Given the description of an element on the screen output the (x, y) to click on. 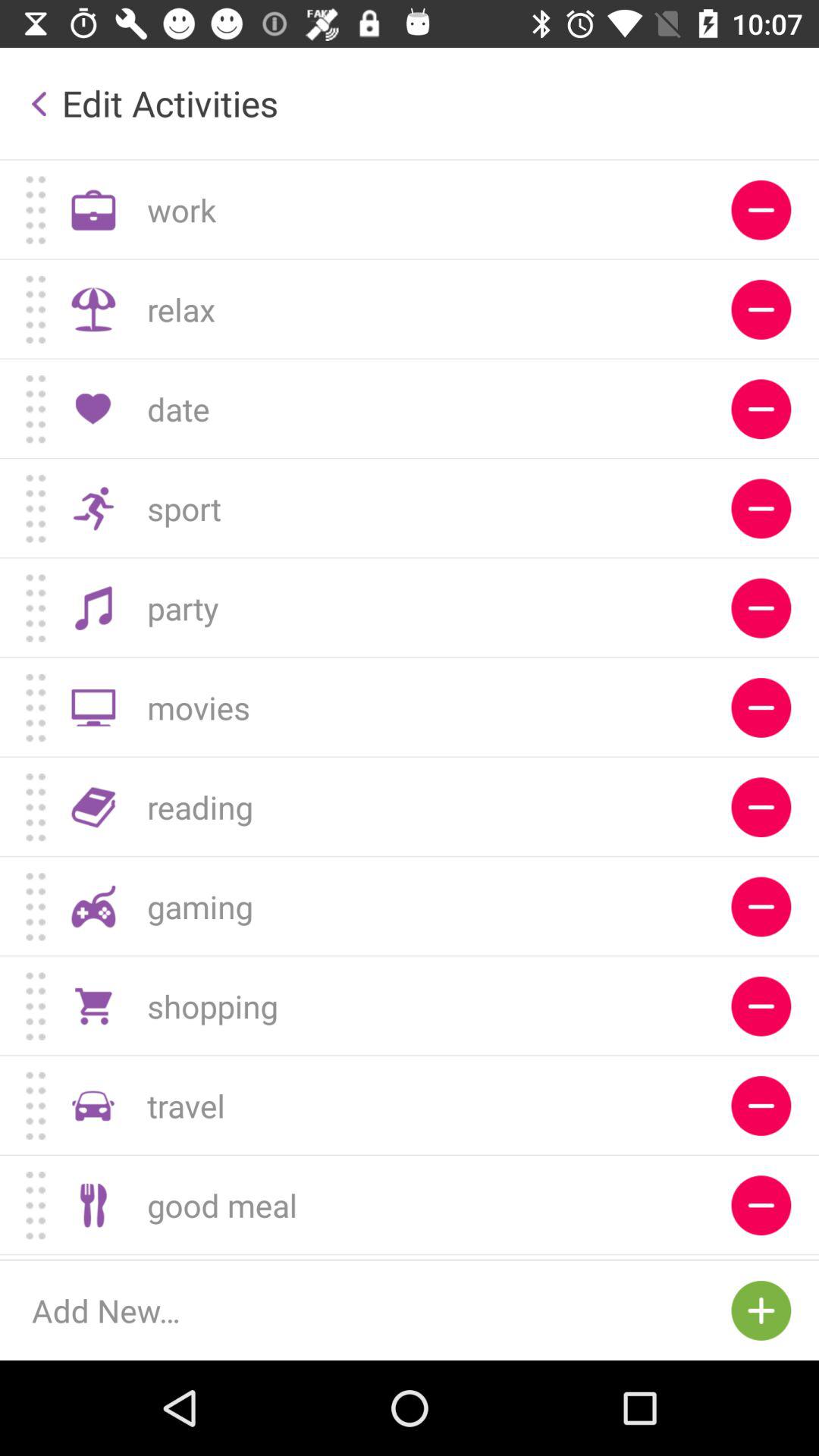
remove (761, 707)
